Given the description of an element on the screen output the (x, y) to click on. 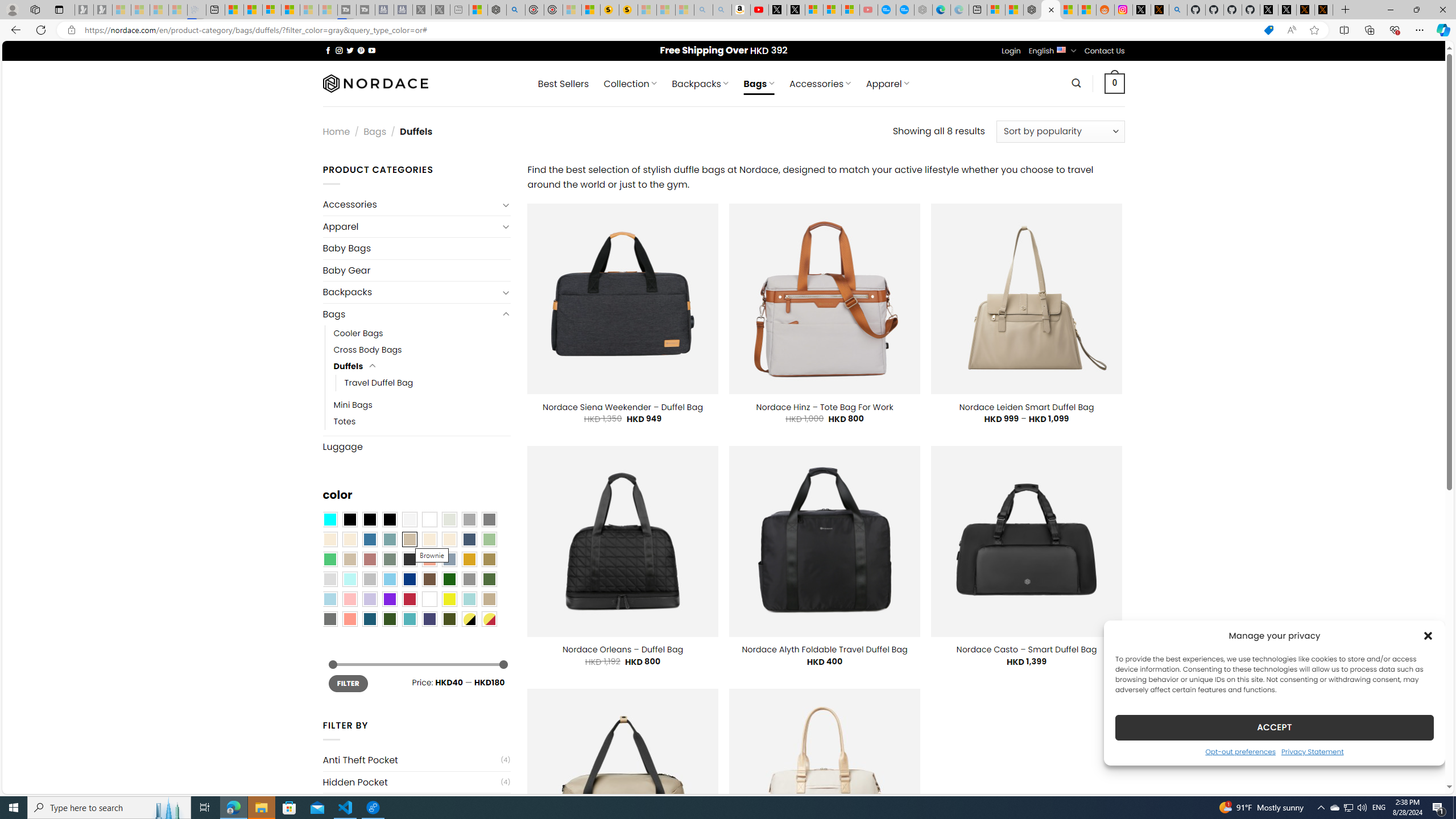
Cooler Bags (422, 333)
Green (488, 579)
Yellow (449, 599)
Microsoft Start - Sleeping (309, 9)
Overview (271, 9)
Anti Theft Pocket(4) (416, 760)
Capri Blue (369, 618)
Streaming Coverage | T3 - Sleeping (347, 9)
